Given the description of an element on the screen output the (x, y) to click on. 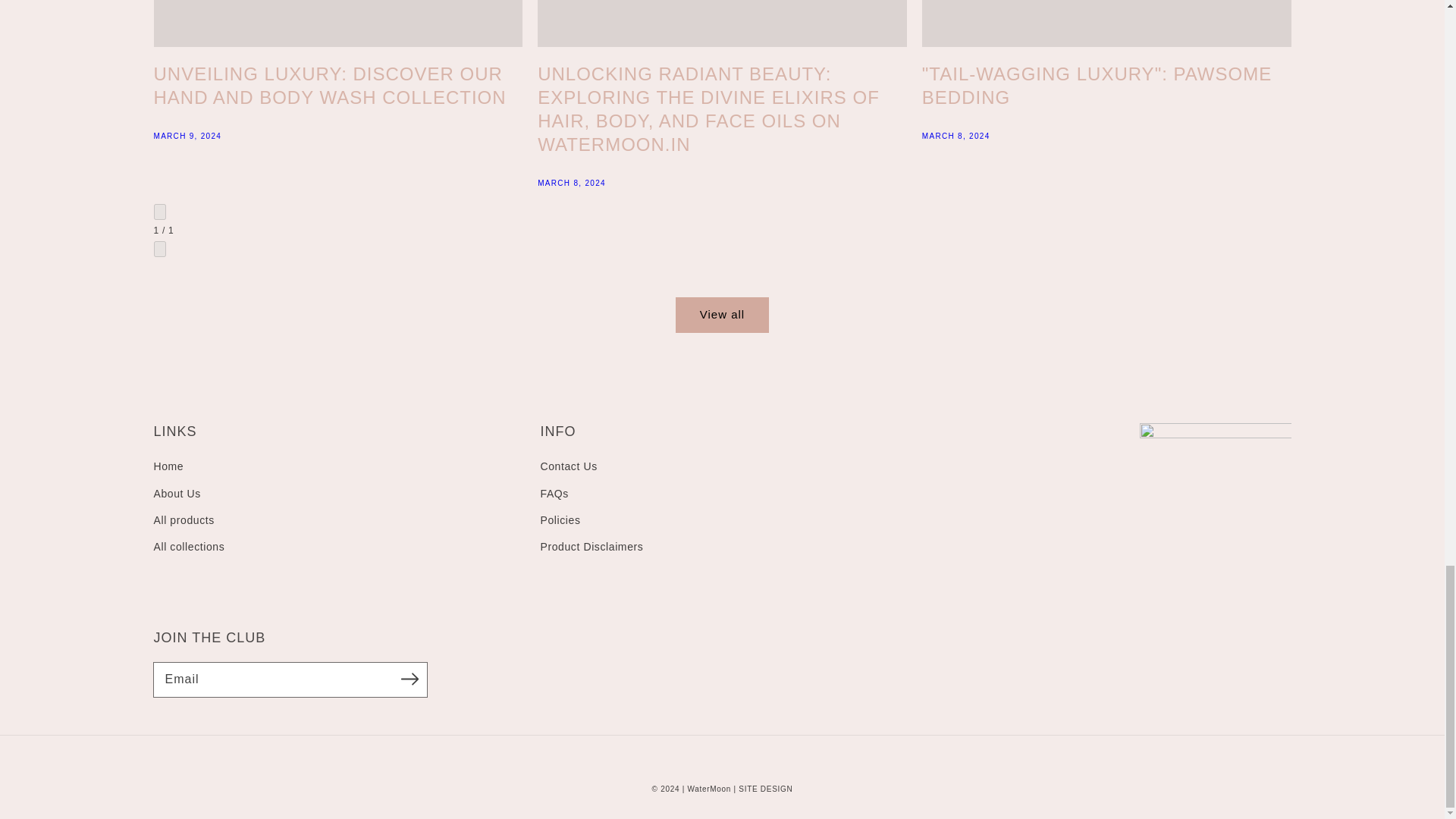
View all (722, 315)
Home (167, 468)
About Us (1106, 73)
